Given the description of an element on the screen output the (x, y) to click on. 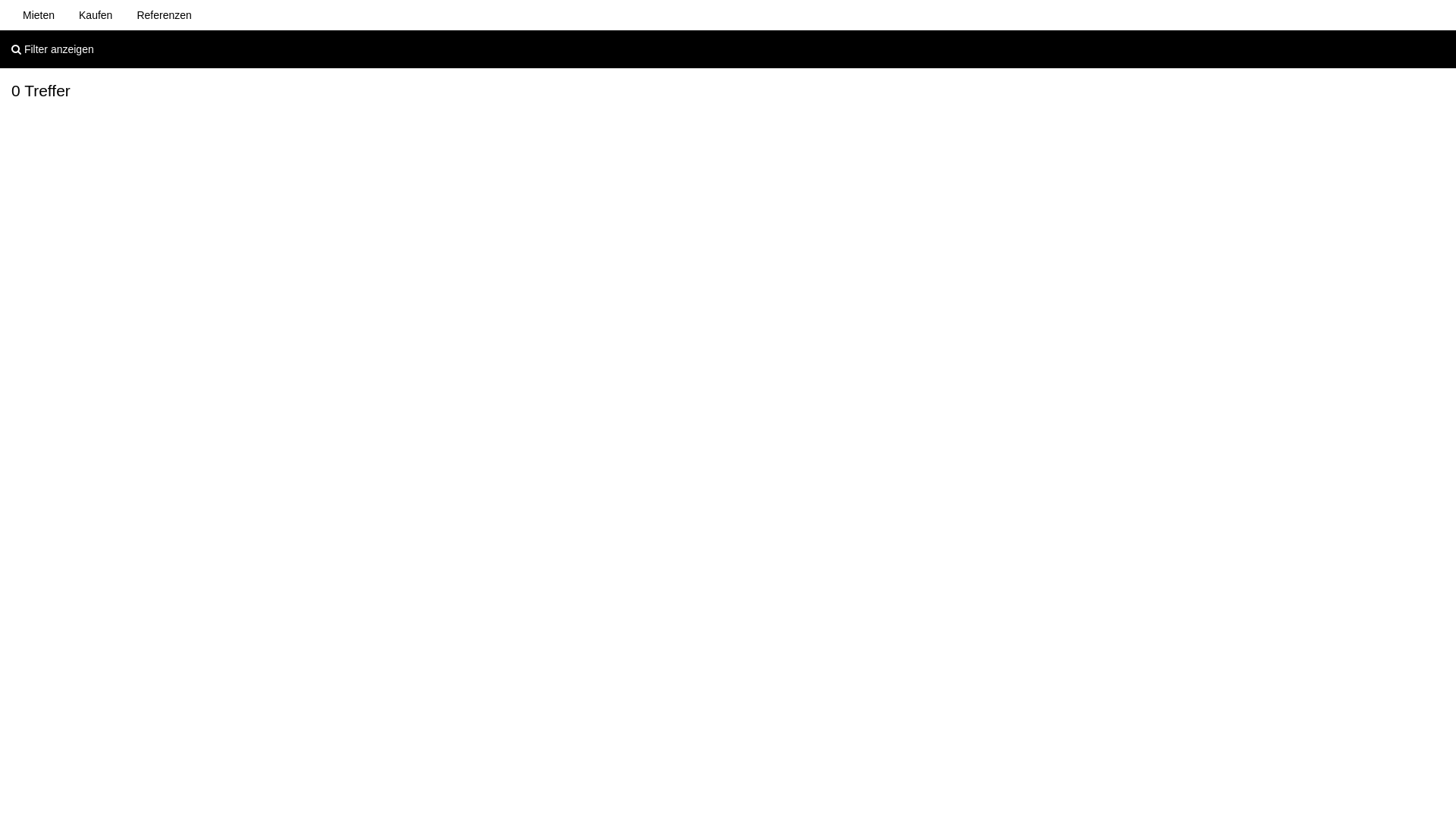
Mieten Element type: text (38, 15)
Referenzen Element type: text (163, 15)
Filter anzeigen Element type: text (727, 49)
Kaufen Element type: text (95, 15)
